Given the description of an element on the screen output the (x, y) to click on. 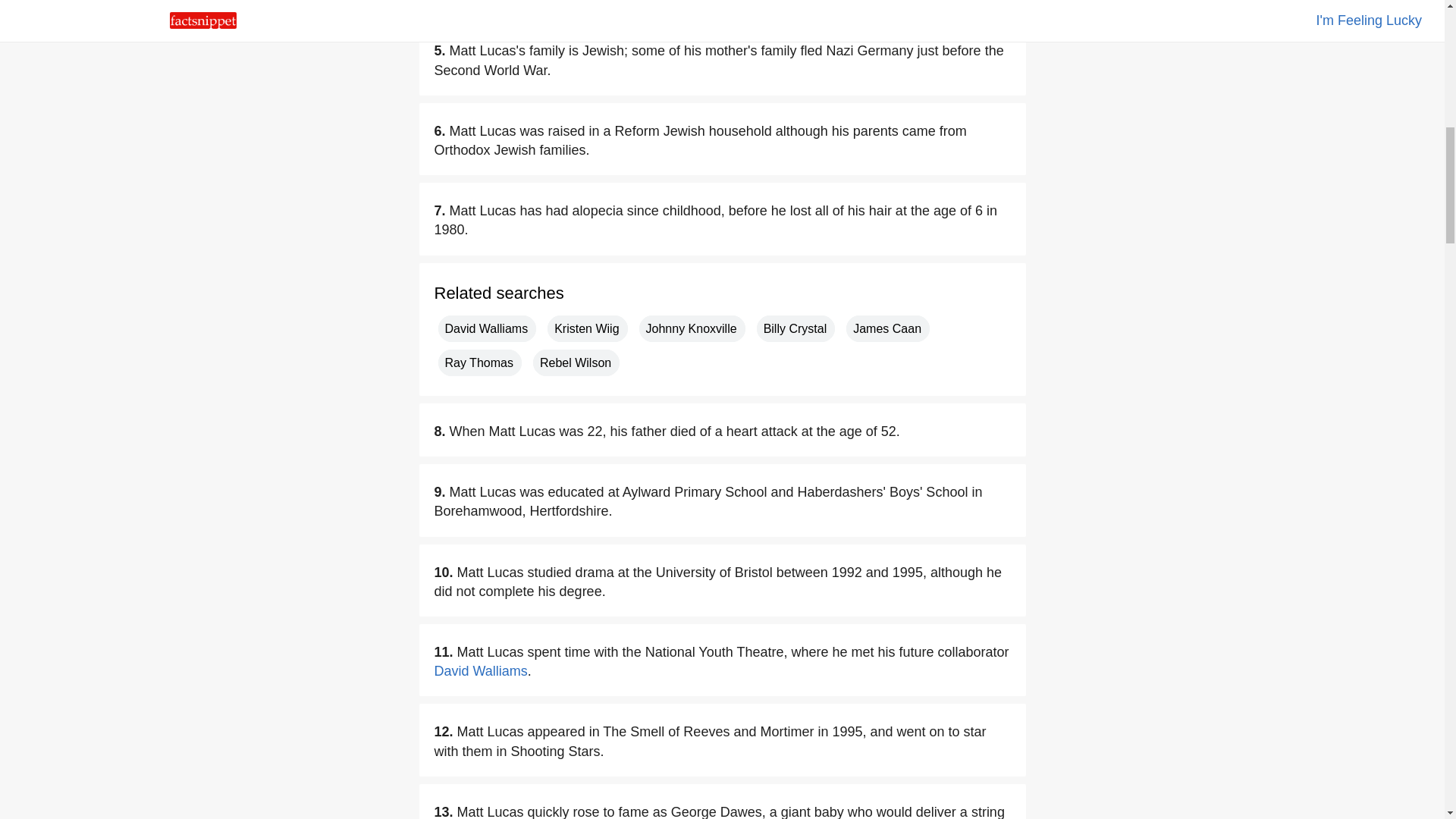
Rebel Wilson (576, 362)
Billy Crystal (796, 328)
Billy Crystal (796, 328)
James Caan (887, 328)
David Walliams (487, 328)
Johnny Knoxville (692, 328)
Johnny Knoxville (692, 328)
Rebel Wilson (576, 362)
David Walliams (480, 670)
David Walliams (480, 670)
